Given the description of an element on the screen output the (x, y) to click on. 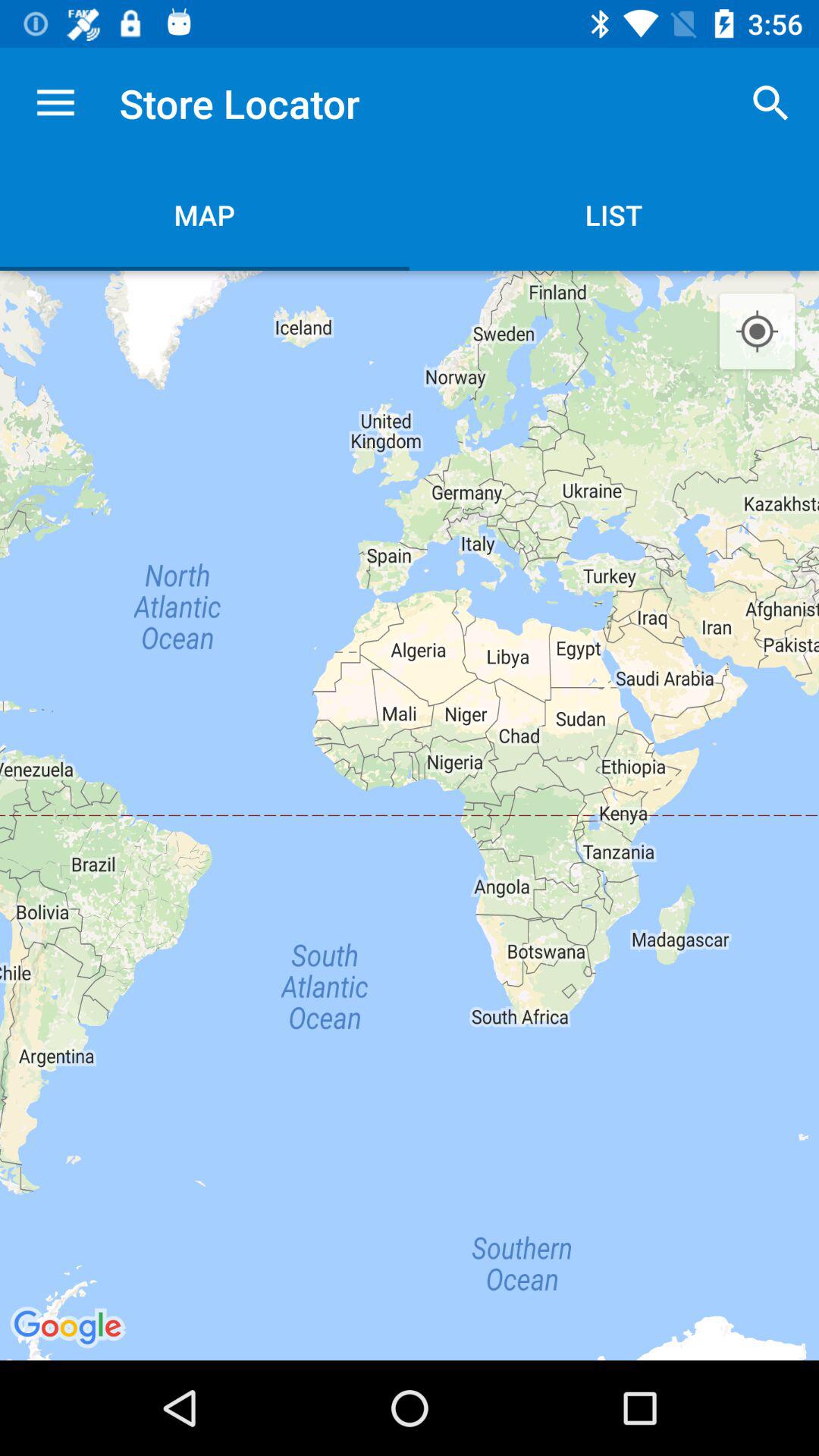
choose icon to the left of store locator item (55, 103)
